Given the description of an element on the screen output the (x, y) to click on. 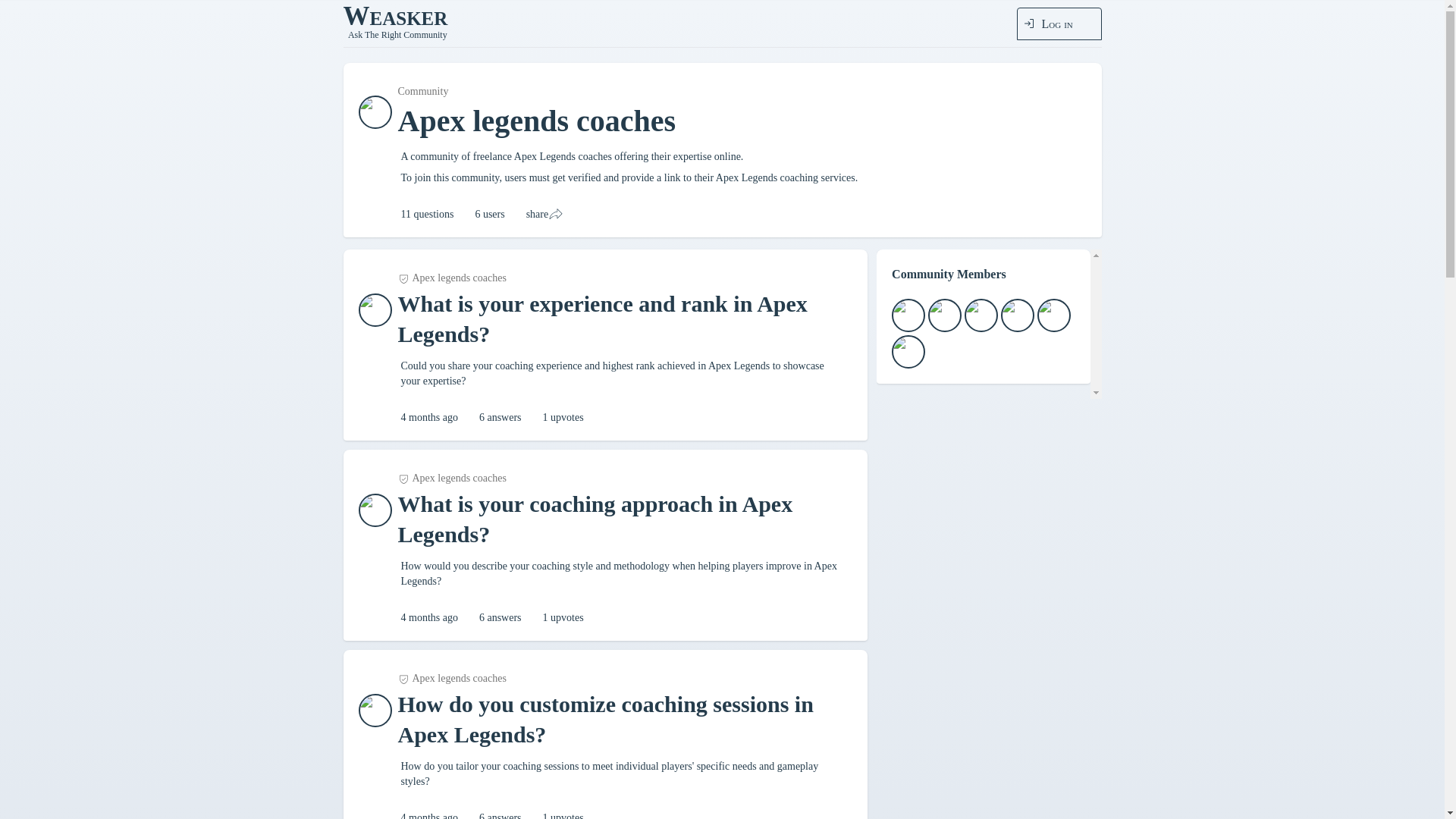
Community Members (988, 323)
6 answers (500, 814)
Apex legends coaches (451, 478)
How do you customize coaching sessions in Apex Legends? (617, 719)
What is your experience and rank in Apex Legends? (617, 319)
6 answers (500, 417)
Apex legends coaches (451, 678)
 Log in (1058, 23)
6 answers (500, 617)
Apex legends coaches (451, 278)
What is your coaching approach in Apex Legends? (617, 518)
Weasker  (398, 16)
